Given the description of an element on the screen output the (x, y) to click on. 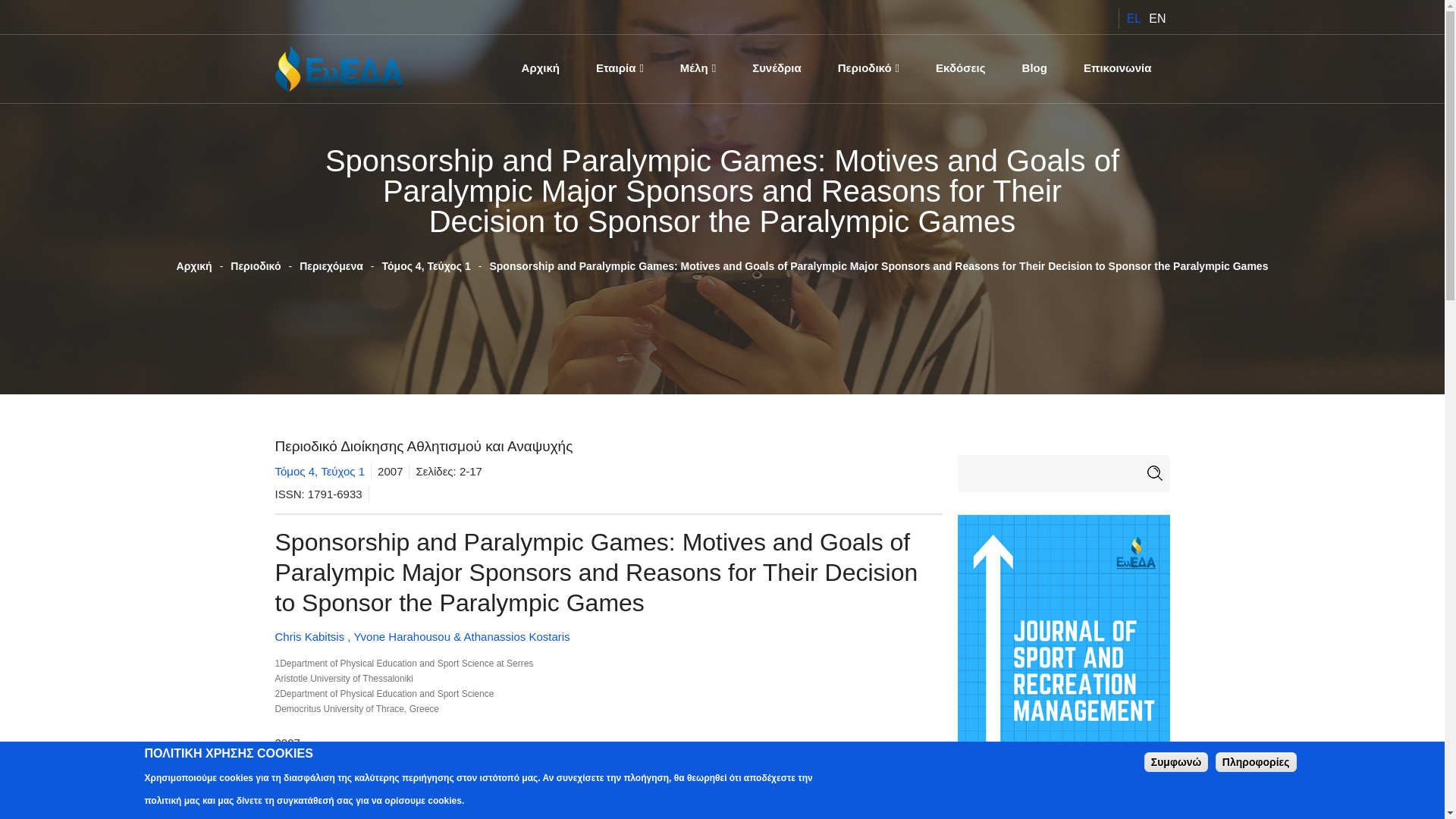
EN (1157, 18)
EL (1133, 18)
